Given the description of an element on the screen output the (x, y) to click on. 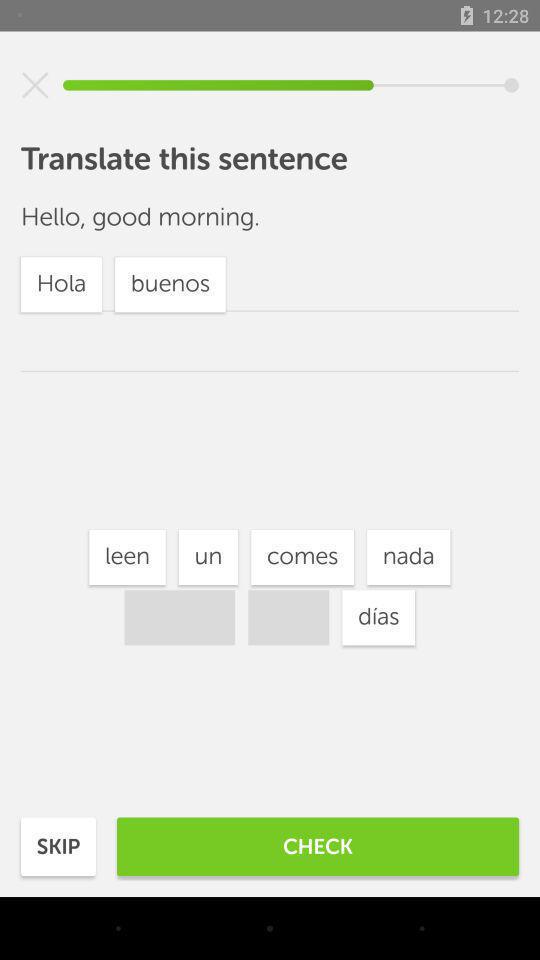
scroll to the skip icon (58, 846)
